Given the description of an element on the screen output the (x, y) to click on. 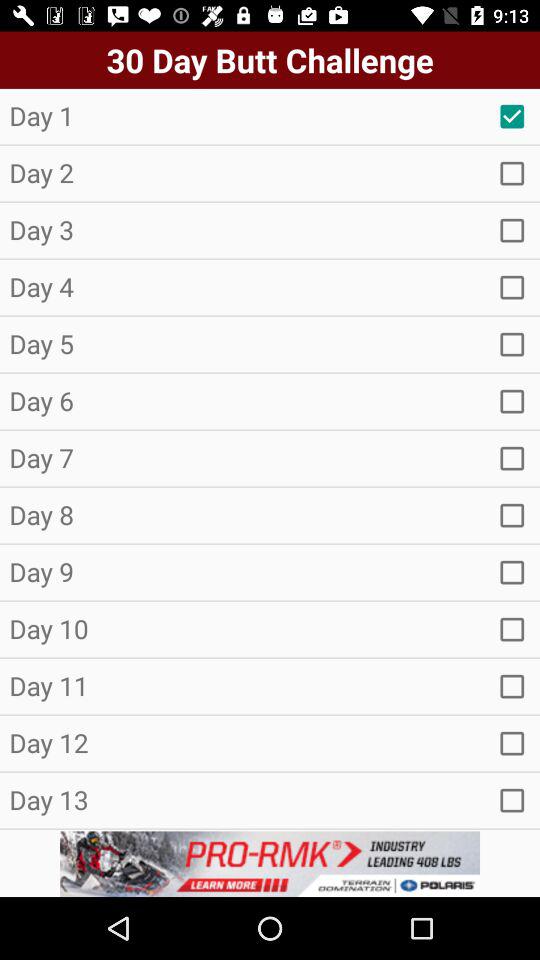
choose day 6 (512, 401)
